Given the description of an element on the screen output the (x, y) to click on. 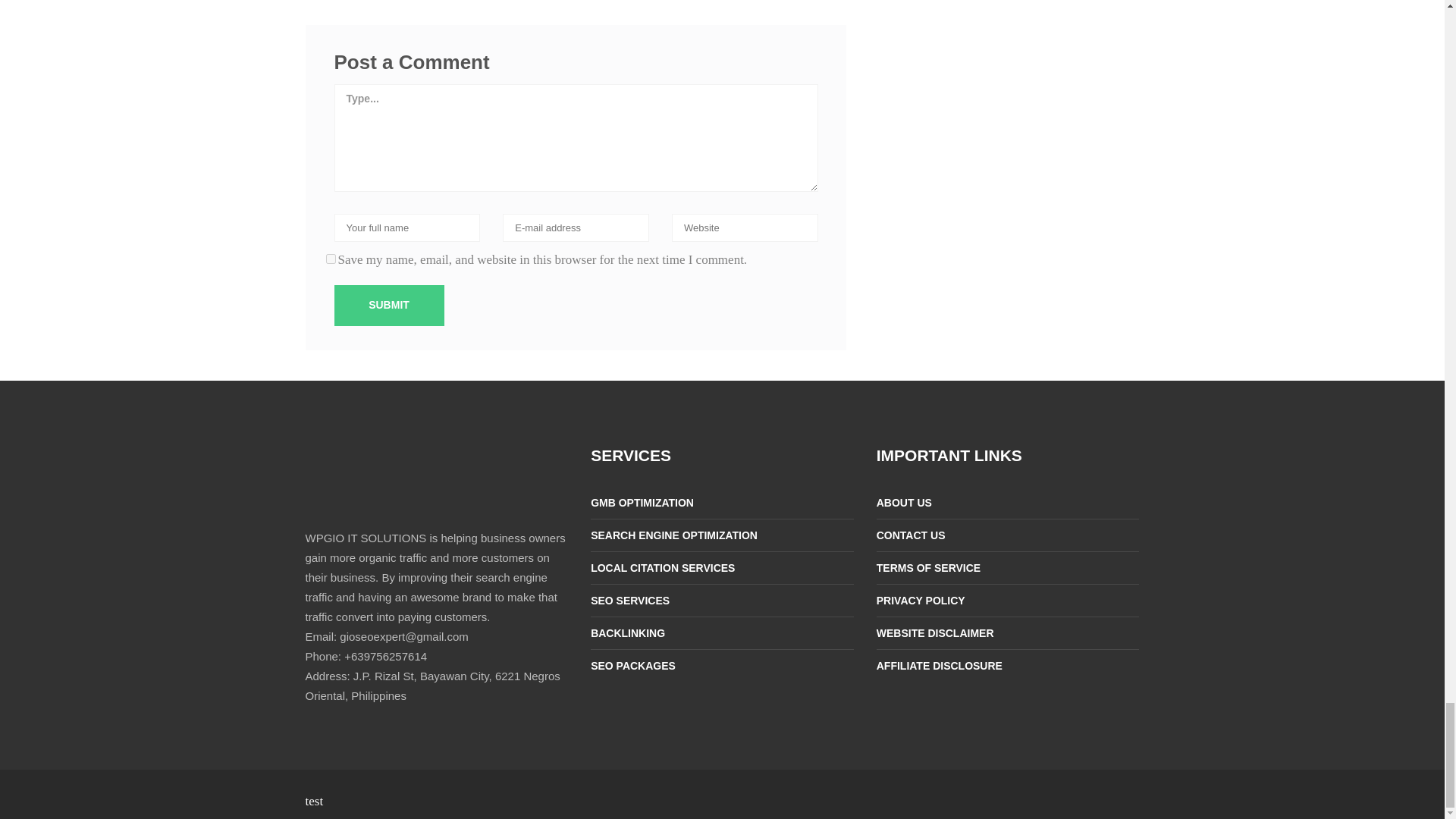
Submit (388, 305)
yes (331, 258)
